Given the description of an element on the screen output the (x, y) to click on. 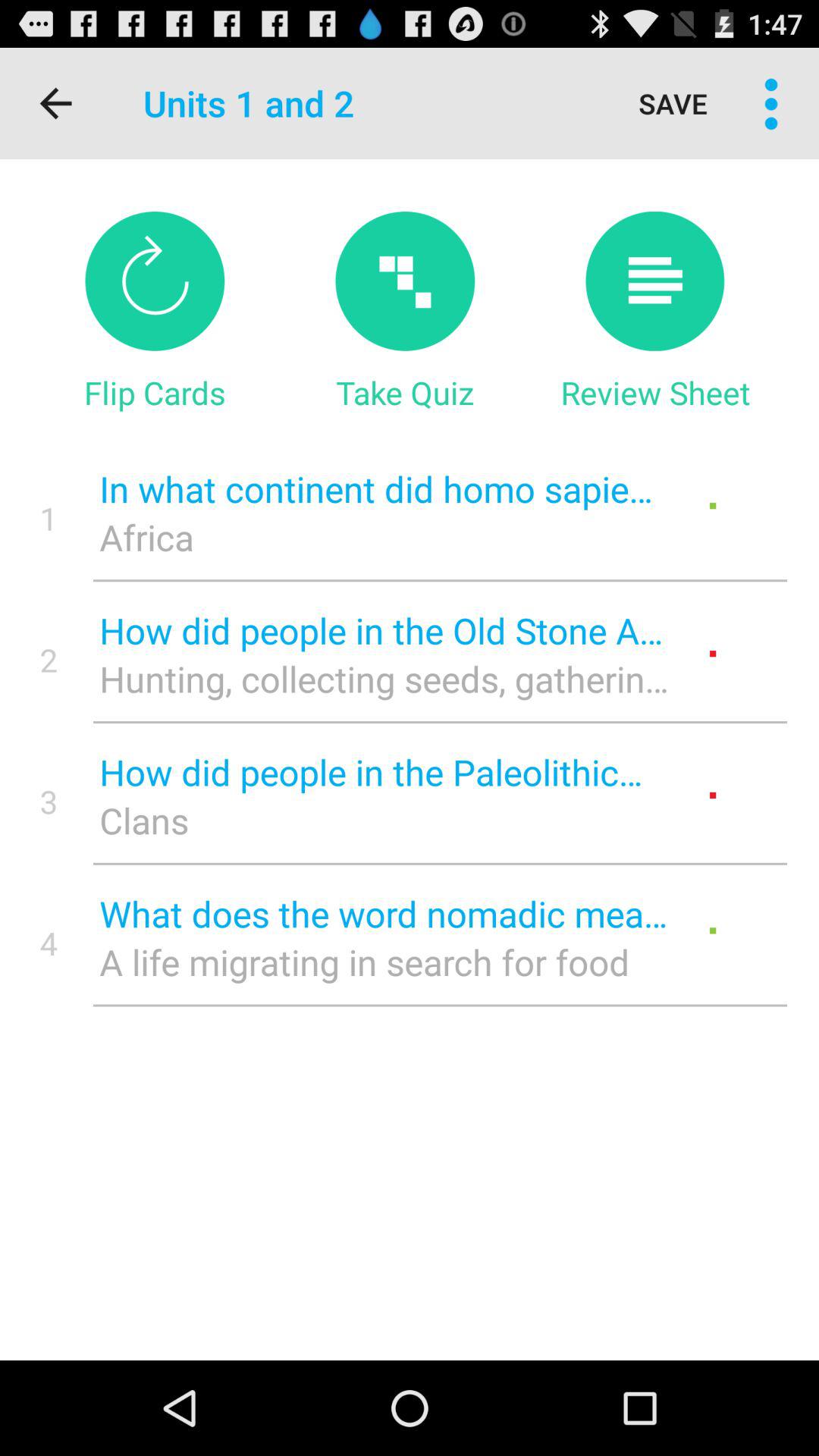
press the item above africa item (384, 488)
